Given the description of an element on the screen output the (x, y) to click on. 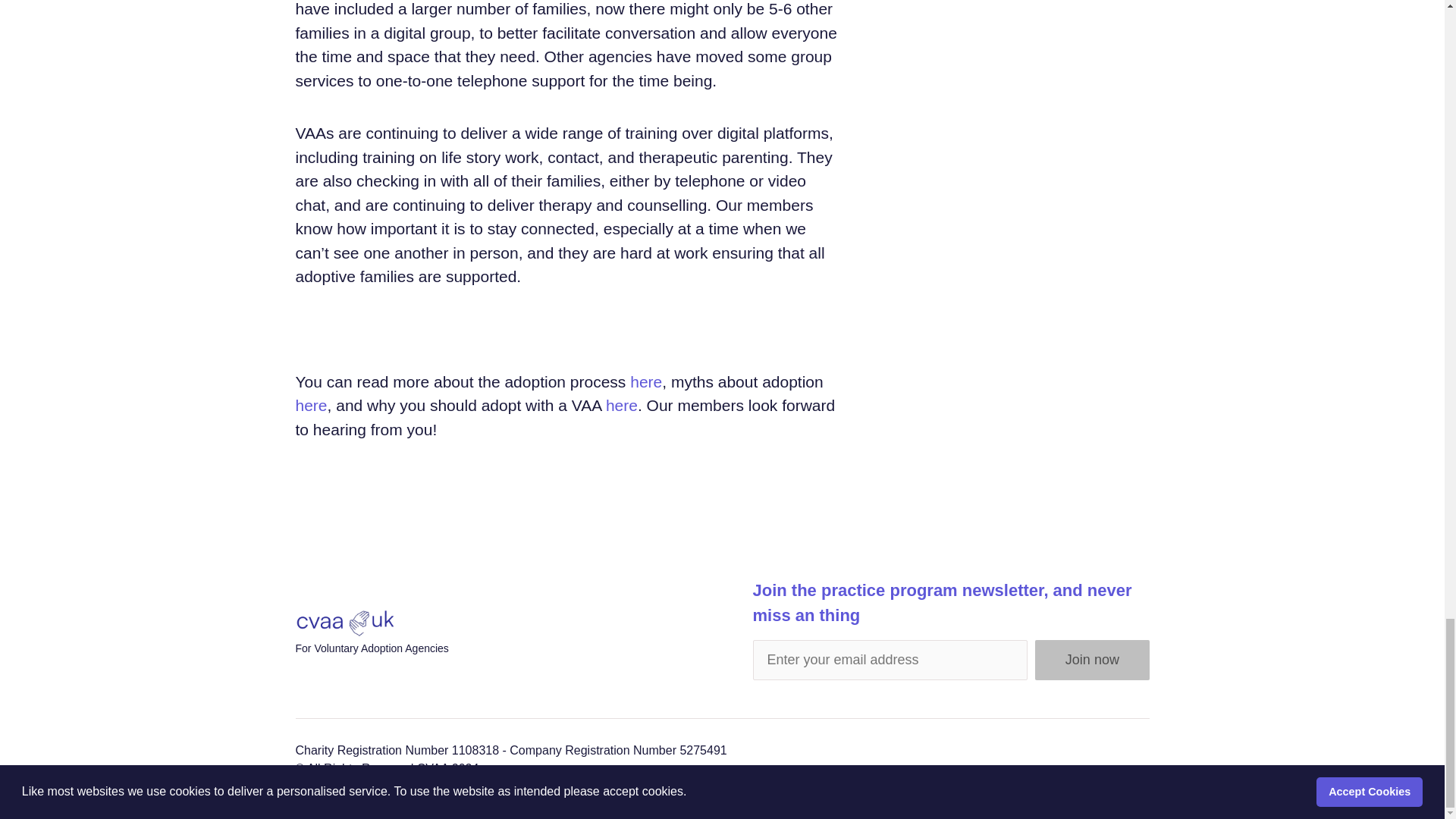
Join now (1091, 659)
